Given the description of an element on the screen output the (x, y) to click on. 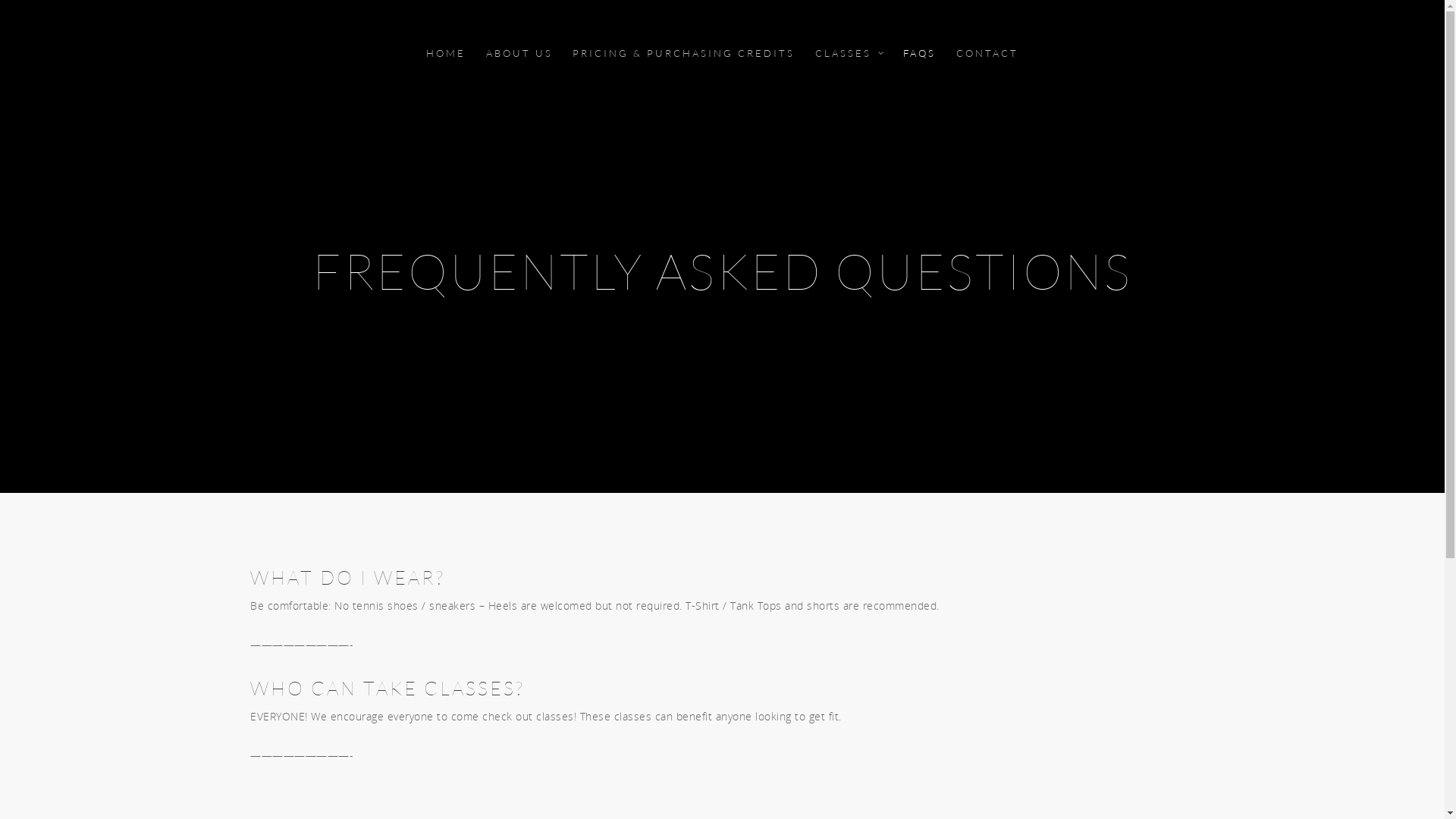
FAQS Element type: text (919, 63)
ABOUT US Element type: text (758, 641)
CLASSES Element type: text (849, 63)
HOME Element type: text (445, 63)
CONTACT Element type: text (756, 718)
FAQs Element type: text (744, 699)
ANAHEIM CLASSES Element type: text (779, 679)
PRICING & PURCHASING CREDITS Element type: text (683, 63)
ABOUT US Element type: text (519, 63)
CONTACT Element type: text (987, 63)
CORONA CLASSES Element type: text (778, 660)
